Given the description of an element on the screen output the (x, y) to click on. 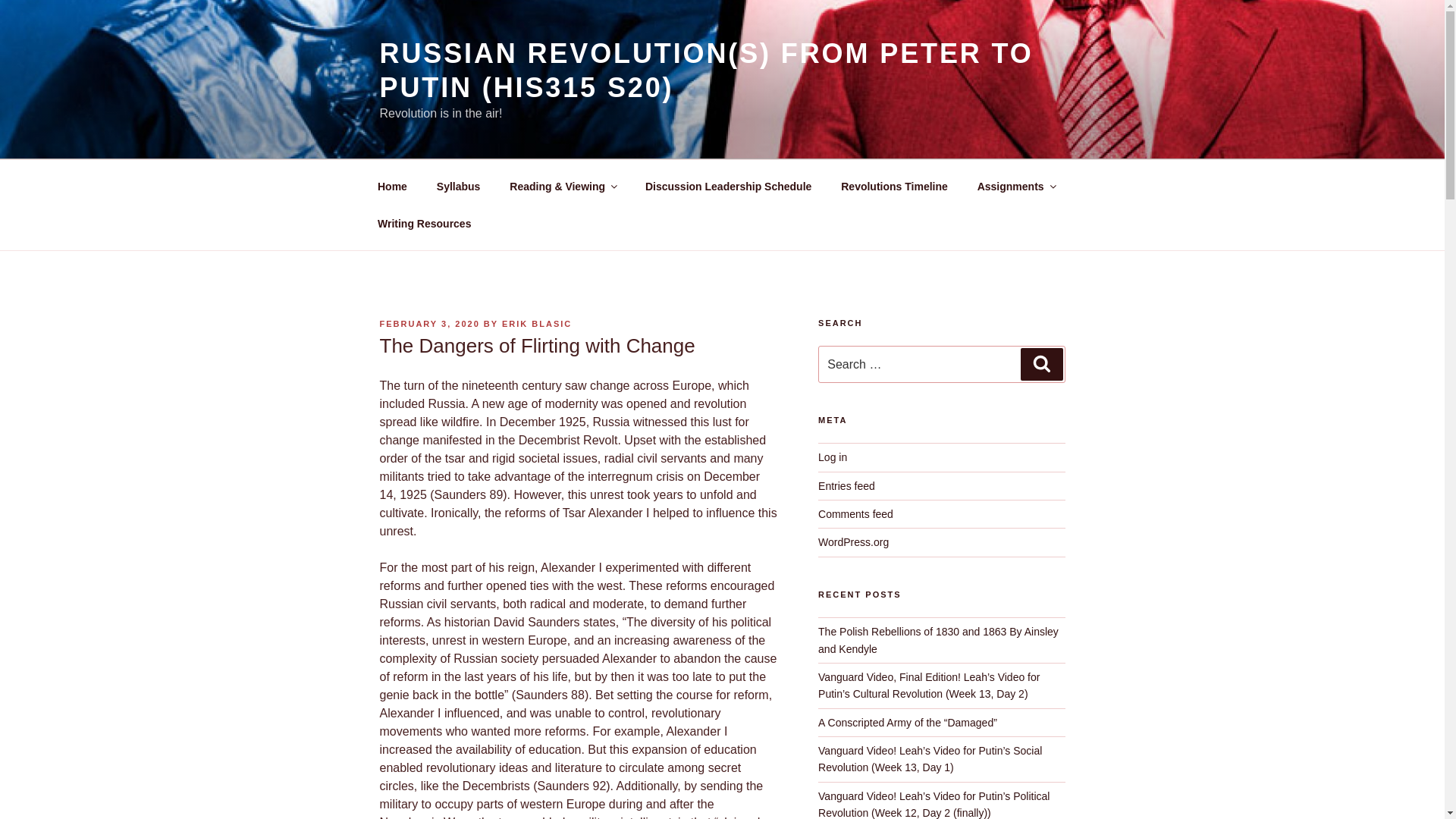
ERIK BLASIC (537, 323)
FEBRUARY 3, 2020 (428, 323)
Comments feed (855, 513)
Assignments (1015, 186)
Syllabus (458, 186)
Writing Resources (423, 222)
Search (1041, 364)
Revolutions Timeline (894, 186)
Log in (832, 457)
Discussion Leadership Schedule (727, 186)
WordPress.org (853, 541)
Entries feed (846, 485)
Home (392, 186)
